Given the description of an element on the screen output the (x, y) to click on. 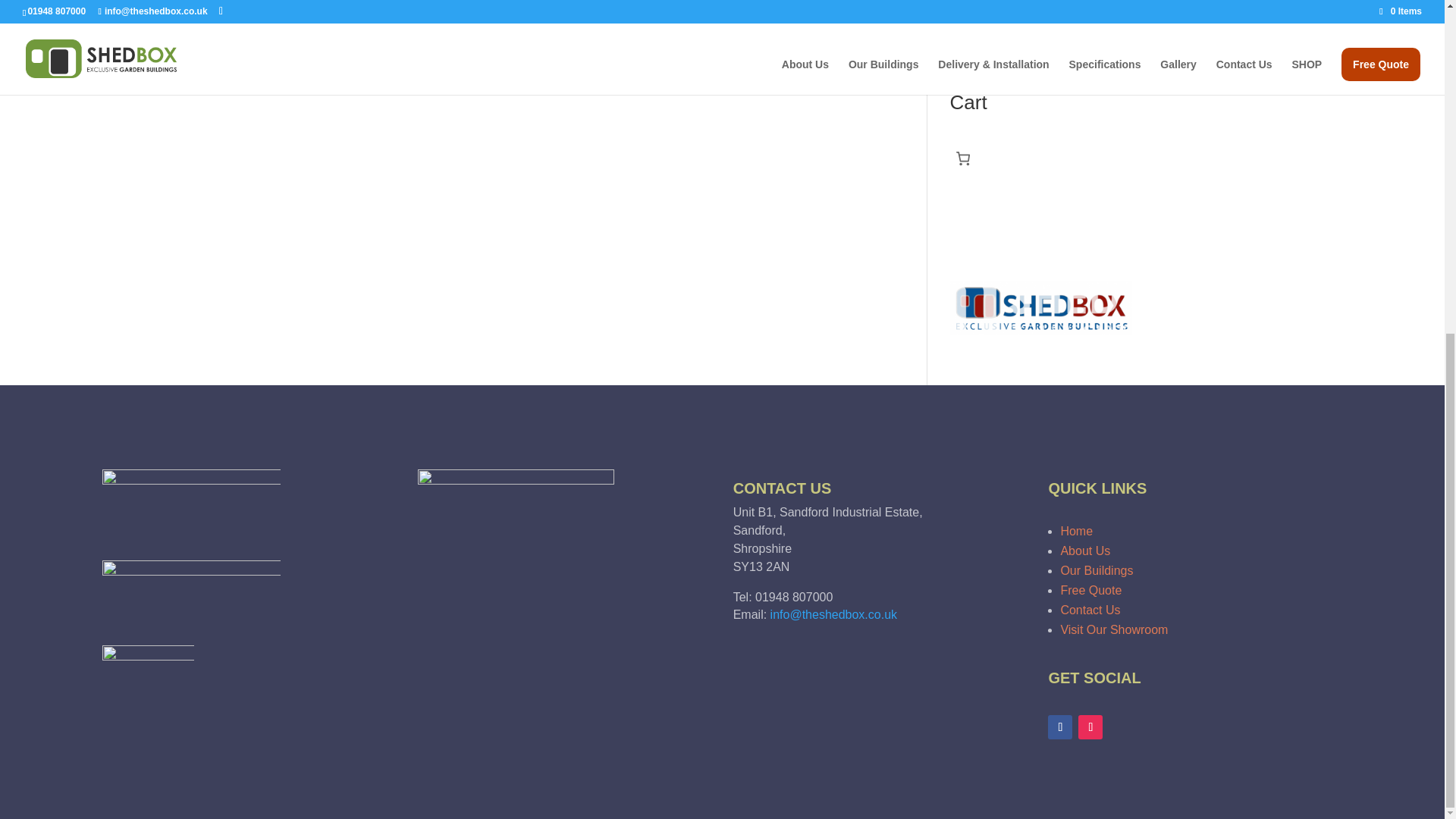
Edge (961, 19)
Visit Our Showroom (1113, 629)
ShedBox-Bespoke-New-Version-Horizontal-Dark-BG (191, 593)
Our Buildings (1095, 570)
Follow on Facebook (1059, 726)
About Us (1084, 550)
Follow on Instagram (1090, 726)
Home (1076, 530)
Free Quote (1090, 590)
Contact Us (1089, 609)
